Given the description of an element on the screen output the (x, y) to click on. 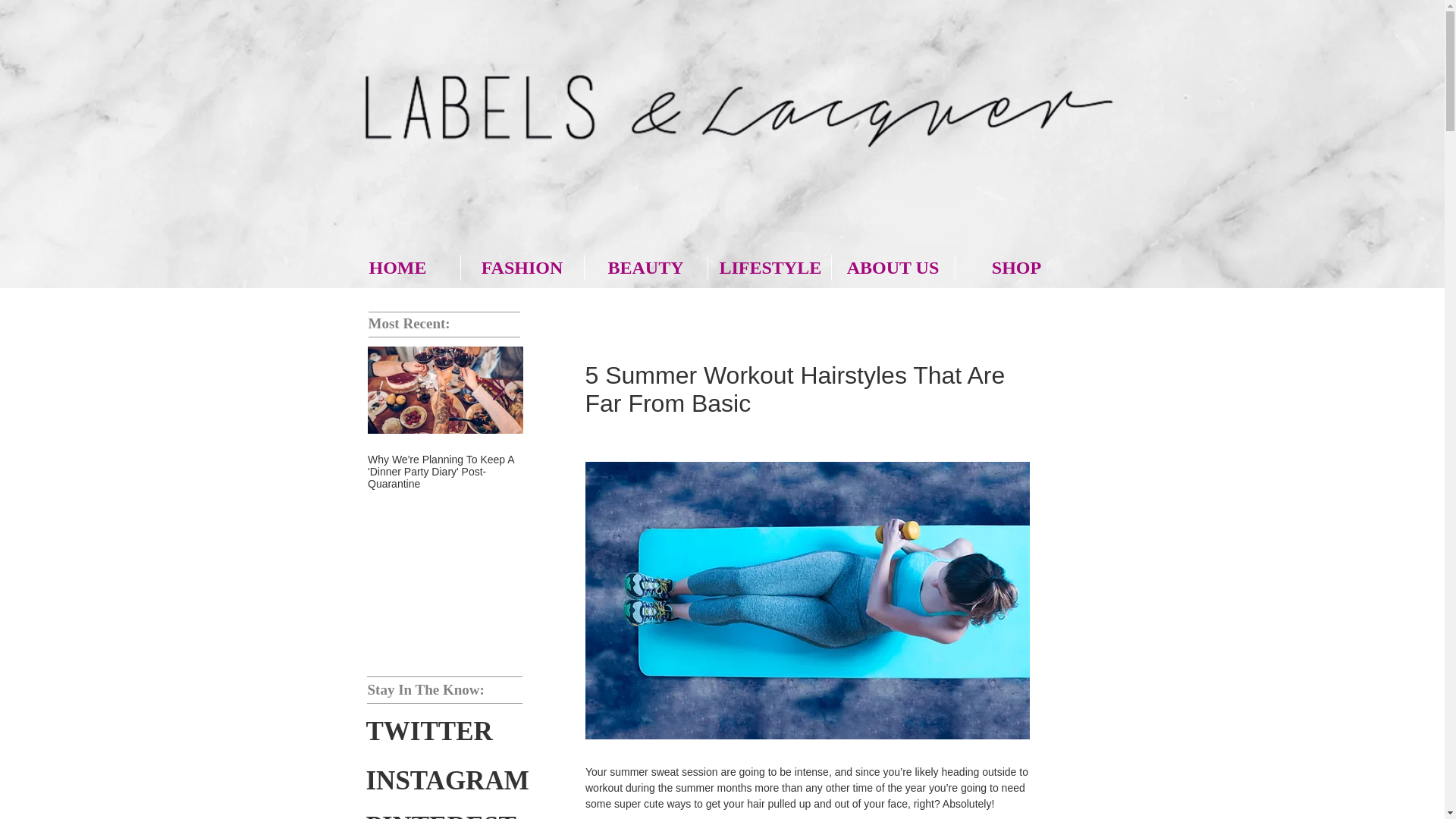
LIFESTYLE (769, 267)
INSTAGRAM (446, 780)
BEAUTY (644, 267)
ABOUT US (892, 267)
SHOP (1016, 267)
HOME (397, 267)
Take A Trip From Home With These Tropical Smoothies (600, 465)
FASHION (522, 267)
TWITTER (428, 731)
PINTEREST (440, 812)
